Given the description of an element on the screen output the (x, y) to click on. 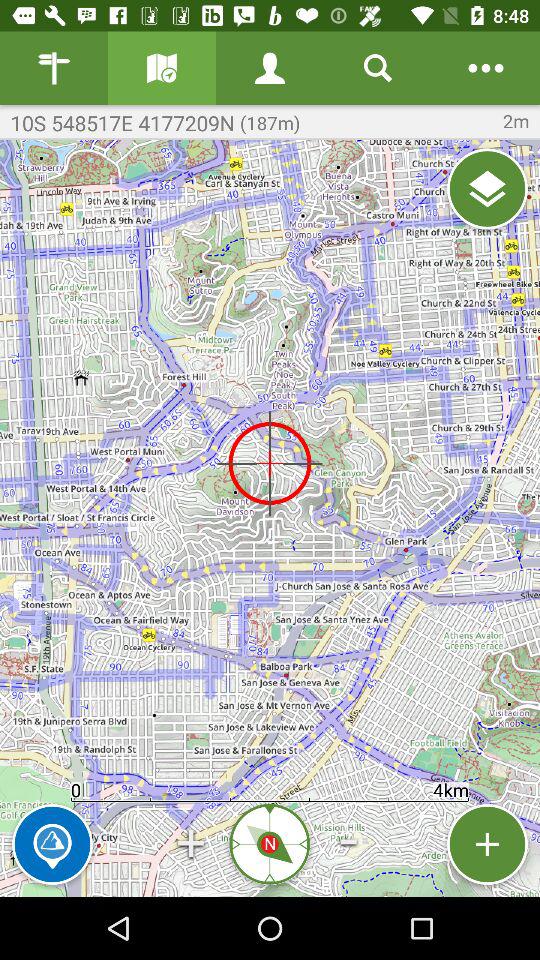
go to layer menu (487, 188)
